Given the description of an element on the screen output the (x, y) to click on. 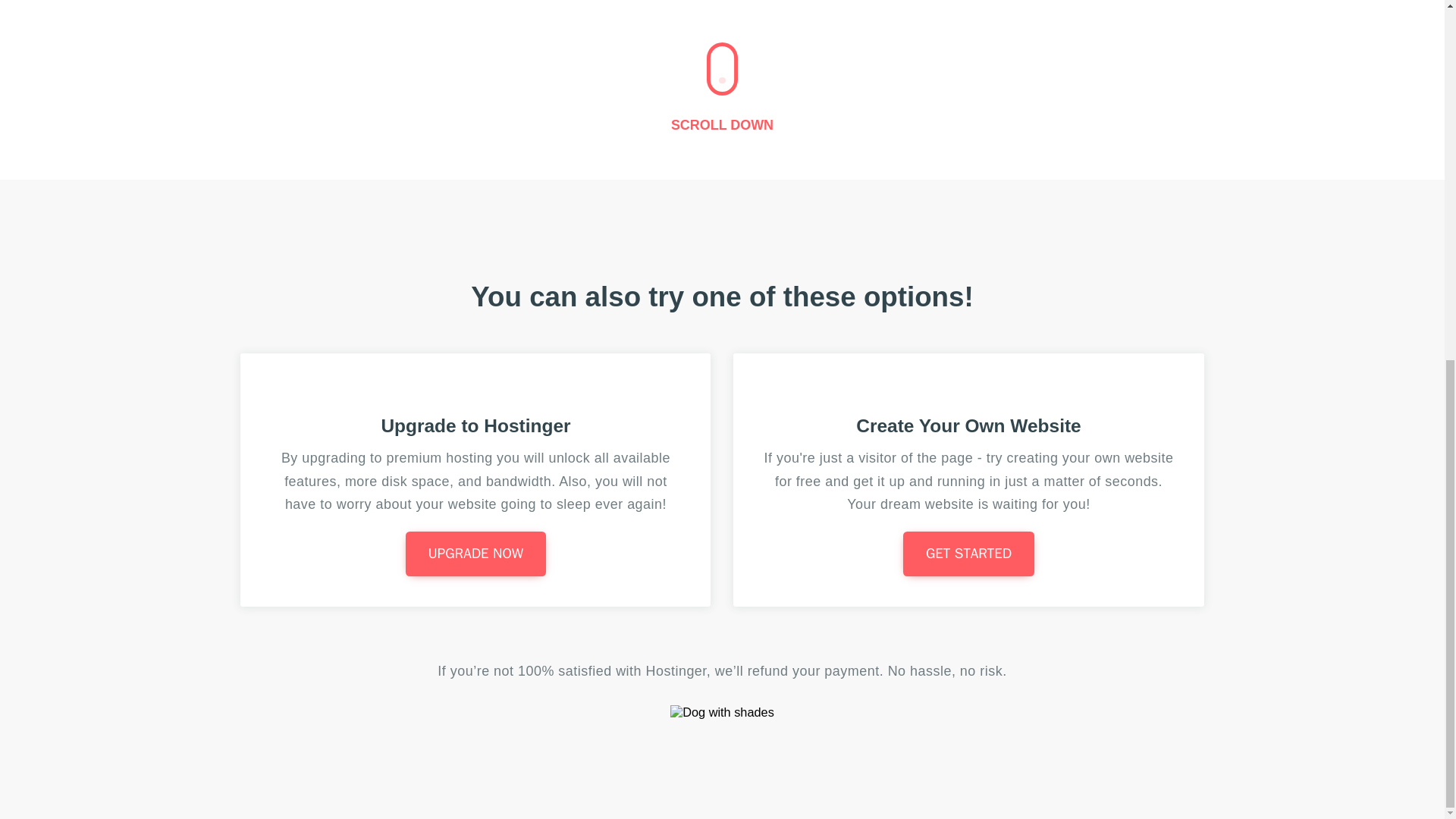
SCROLL DOWN (722, 124)
UPGRADE NOW (476, 553)
GET STARTED (967, 553)
SCROLL DOWN (722, 87)
